Given the description of an element on the screen output the (x, y) to click on. 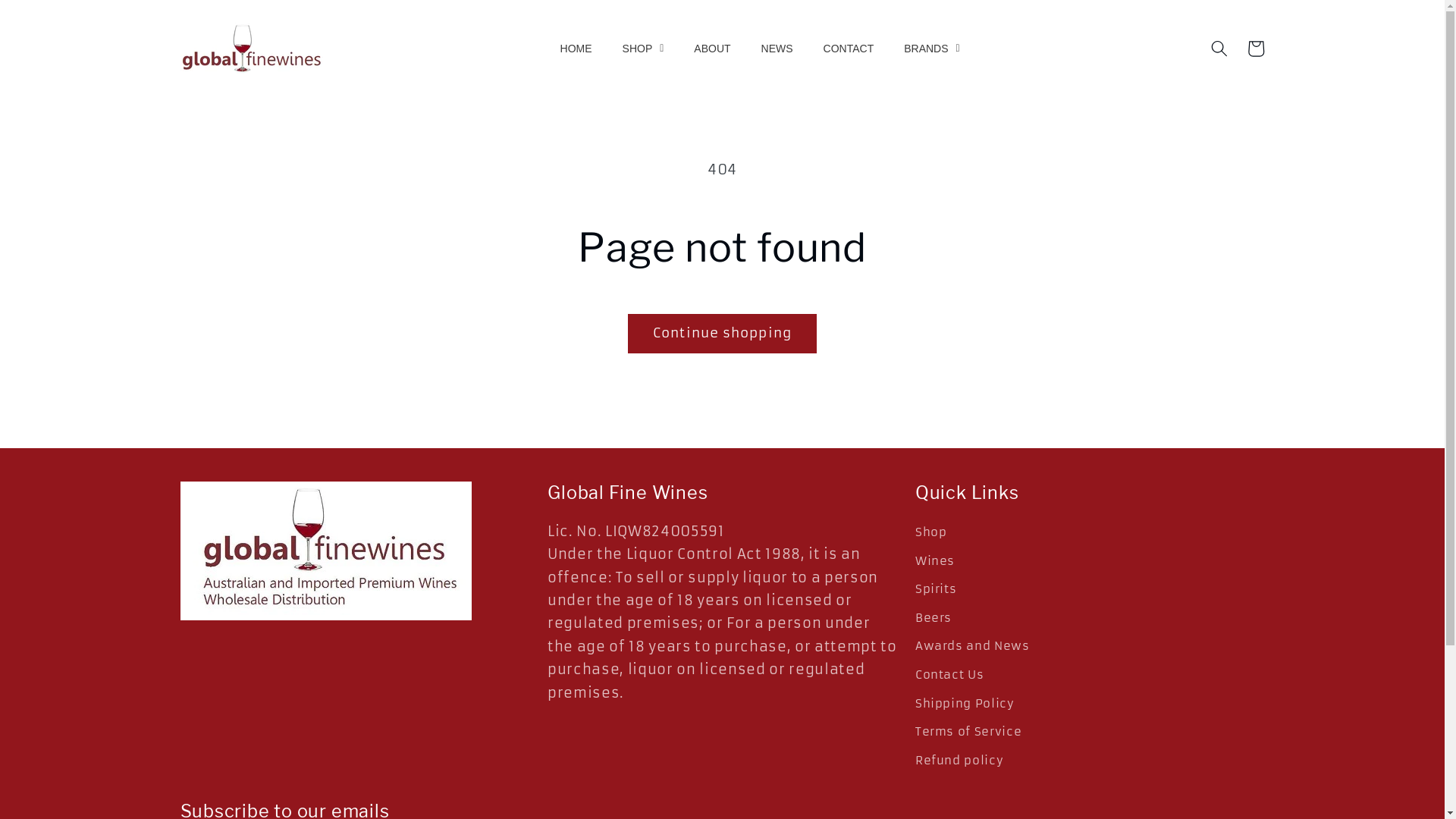
SHOP Element type: text (643, 48)
Spirits Element type: text (936, 589)
BRANDS Element type: text (931, 48)
Contact Us Element type: text (949, 674)
Continue shopping Element type: text (721, 333)
Wines Element type: text (934, 560)
HOME Element type: text (576, 48)
Awards and News Element type: text (972, 646)
Cart Element type: text (1255, 48)
ABOUT Element type: text (711, 48)
Shop Element type: text (931, 534)
Shipping Policy Element type: text (964, 703)
CONTACT Element type: text (848, 48)
Beers Element type: text (933, 617)
Refund policy Element type: text (959, 760)
NEWS Element type: text (777, 48)
Terms of Service Element type: text (968, 732)
